Given the description of an element on the screen output the (x, y) to click on. 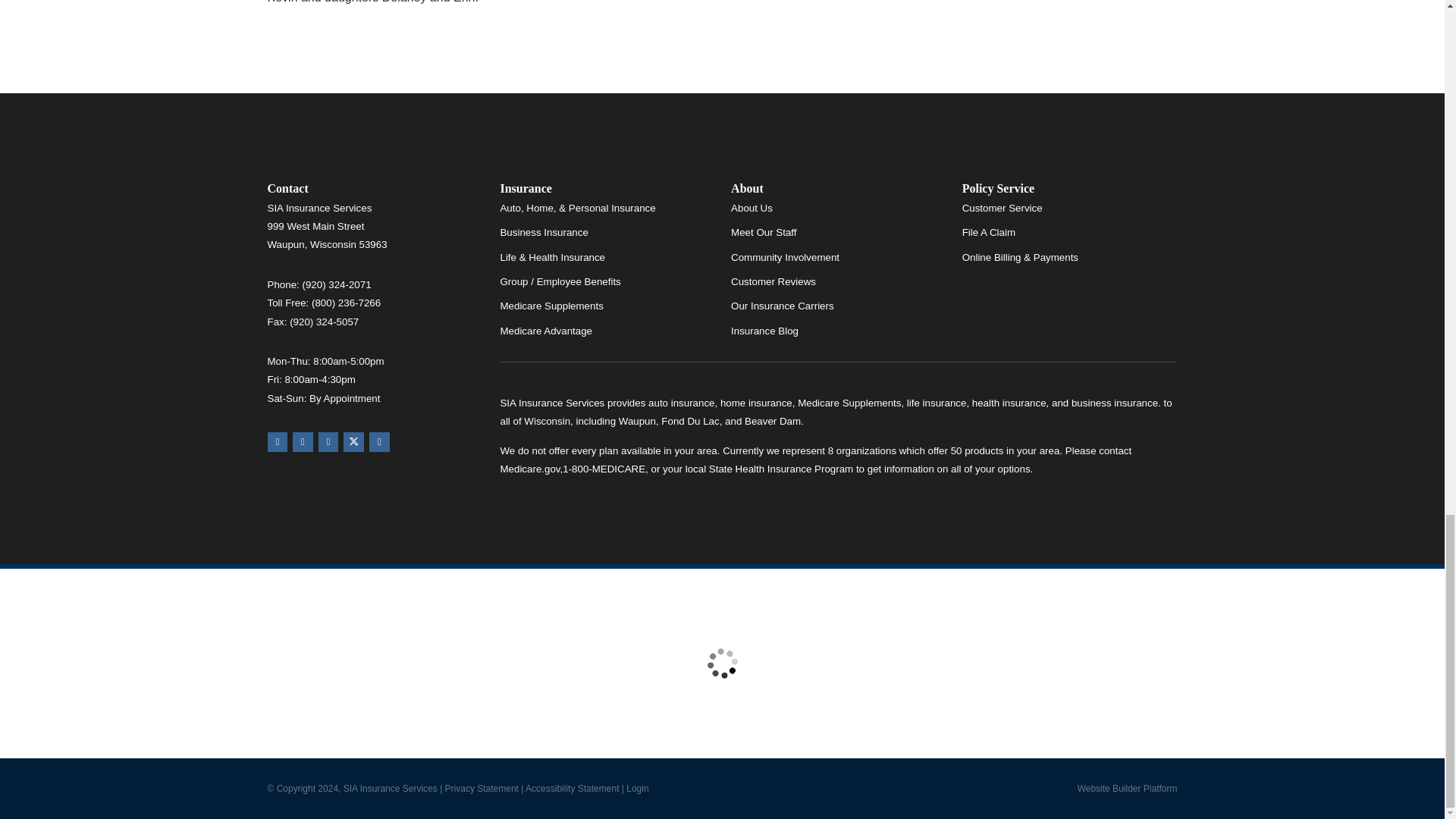
LinkedIn (379, 442)
X (353, 442)
Facebook (328, 442)
Google Maps (276, 442)
Yelp (302, 442)
